Given the description of an element on the screen output the (x, y) to click on. 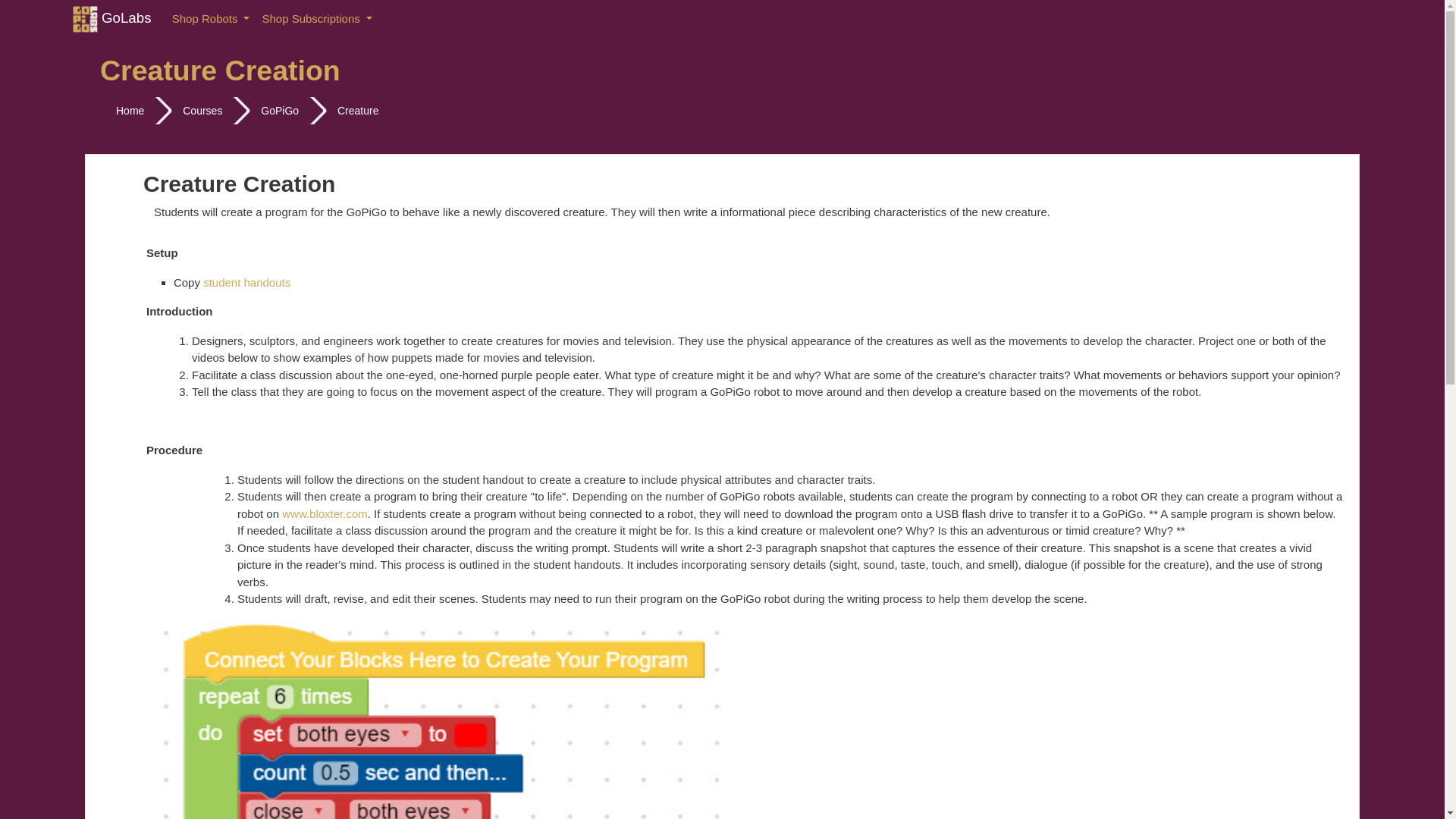
Creature Creation (220, 73)
GoPiGo (279, 110)
GoLabs (111, 18)
student handouts (246, 282)
Home (130, 110)
Shop Robots (210, 19)
Shop Subscriptions (316, 19)
Creature (357, 110)
Creature Creation (357, 110)
Courses (202, 110)
www.bloxter.com (325, 512)
